Given the description of an element on the screen output the (x, y) to click on. 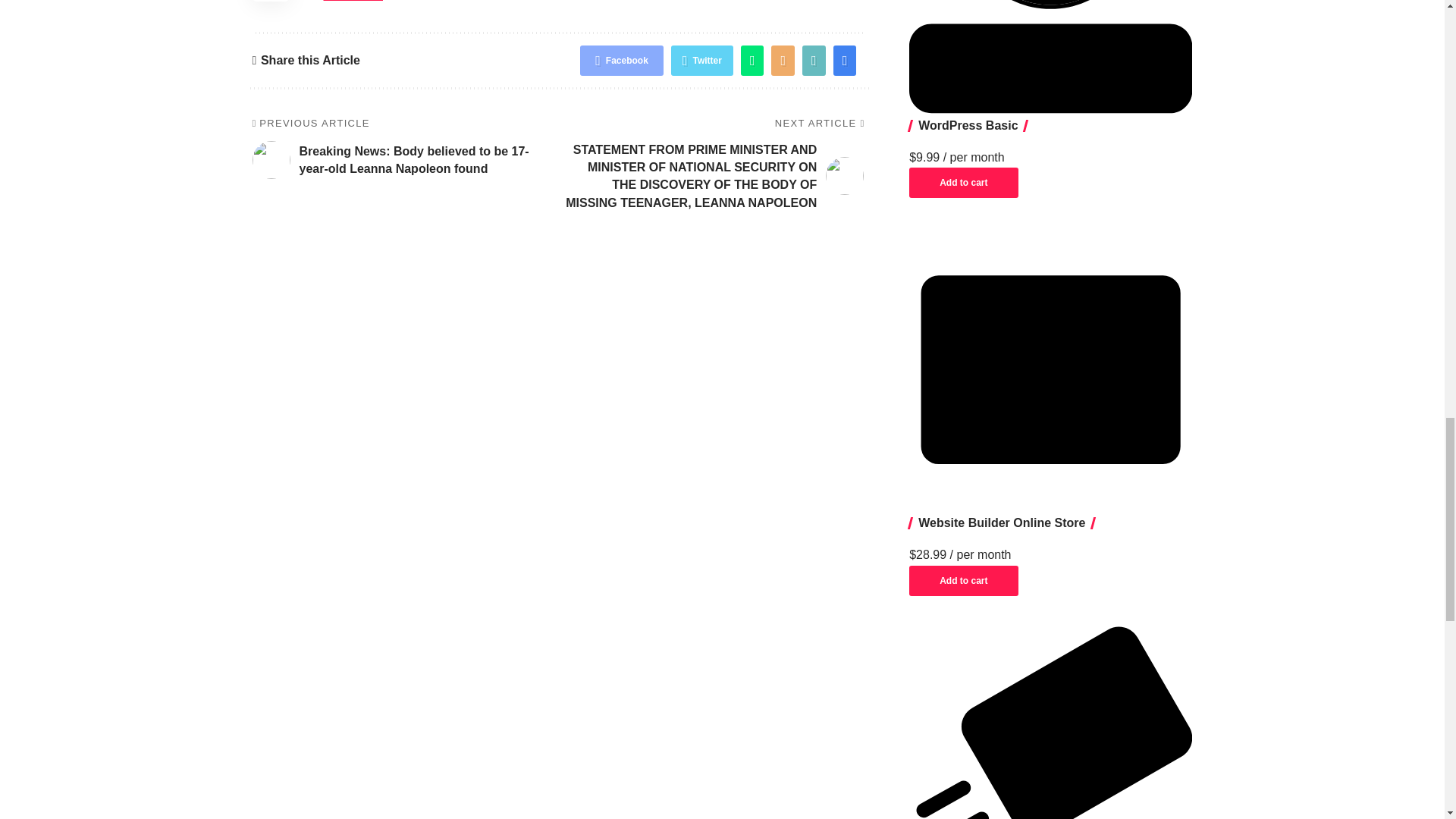
Website Builder (1050, 369)
WordPress (1050, 56)
Email Marketing (1050, 722)
